Given the description of an element on the screen output the (x, y) to click on. 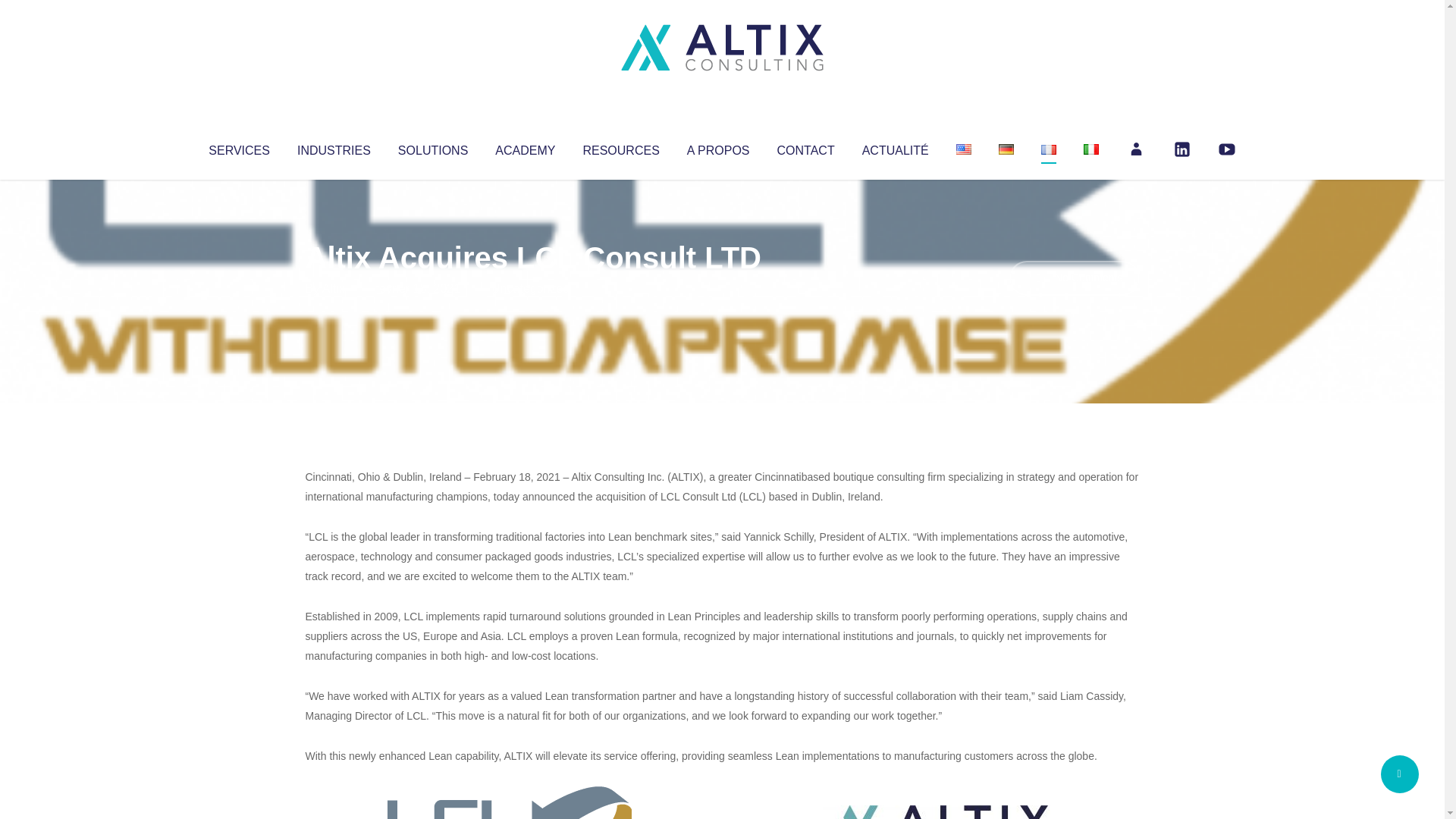
ACADEMY (524, 146)
INDUSTRIES (334, 146)
No Comments (1073, 278)
Altix (333, 287)
A PROPOS (718, 146)
SERVICES (238, 146)
Articles par Altix (333, 287)
Uncategorized (530, 287)
SOLUTIONS (432, 146)
RESOURCES (620, 146)
